Given the description of an element on the screen output the (x, y) to click on. 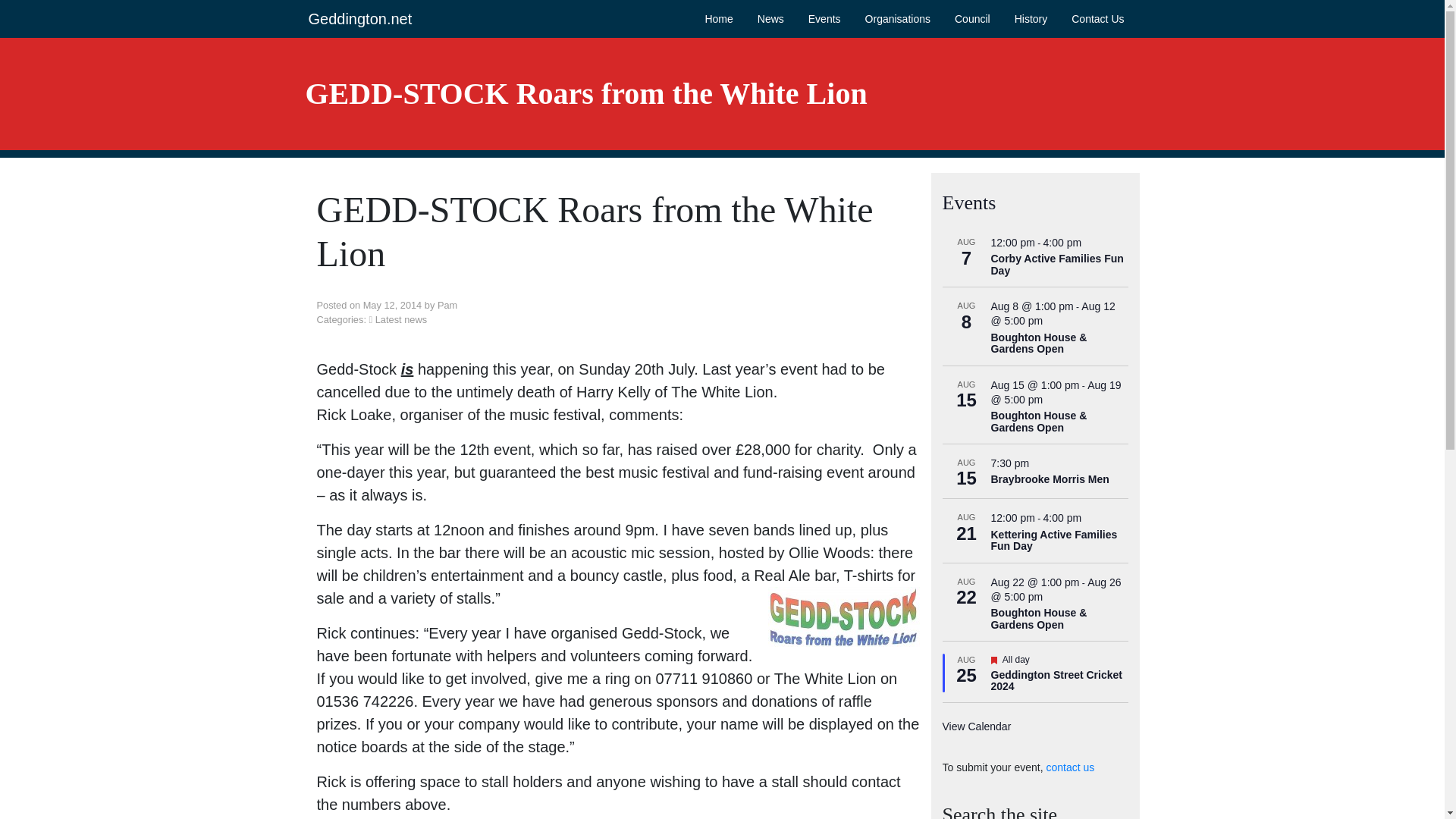
Geddington Street Cricket 2024 (1055, 680)
Braybrooke Morris Men (1049, 479)
View Calendar (976, 726)
Geddington Street Cricket 2024 (1055, 680)
Organisations (897, 18)
Latest news (400, 319)
Kettering Active Families Fun Day (1053, 540)
Geddington.net (359, 18)
Pam (447, 305)
Geddington.net (359, 18)
contact us (1069, 767)
Kettering Active Families Fun Day (1053, 540)
View all posts by Pam (447, 305)
May 12, 2014 (392, 305)
Council (972, 18)
